Given the description of an element on the screen output the (x, y) to click on. 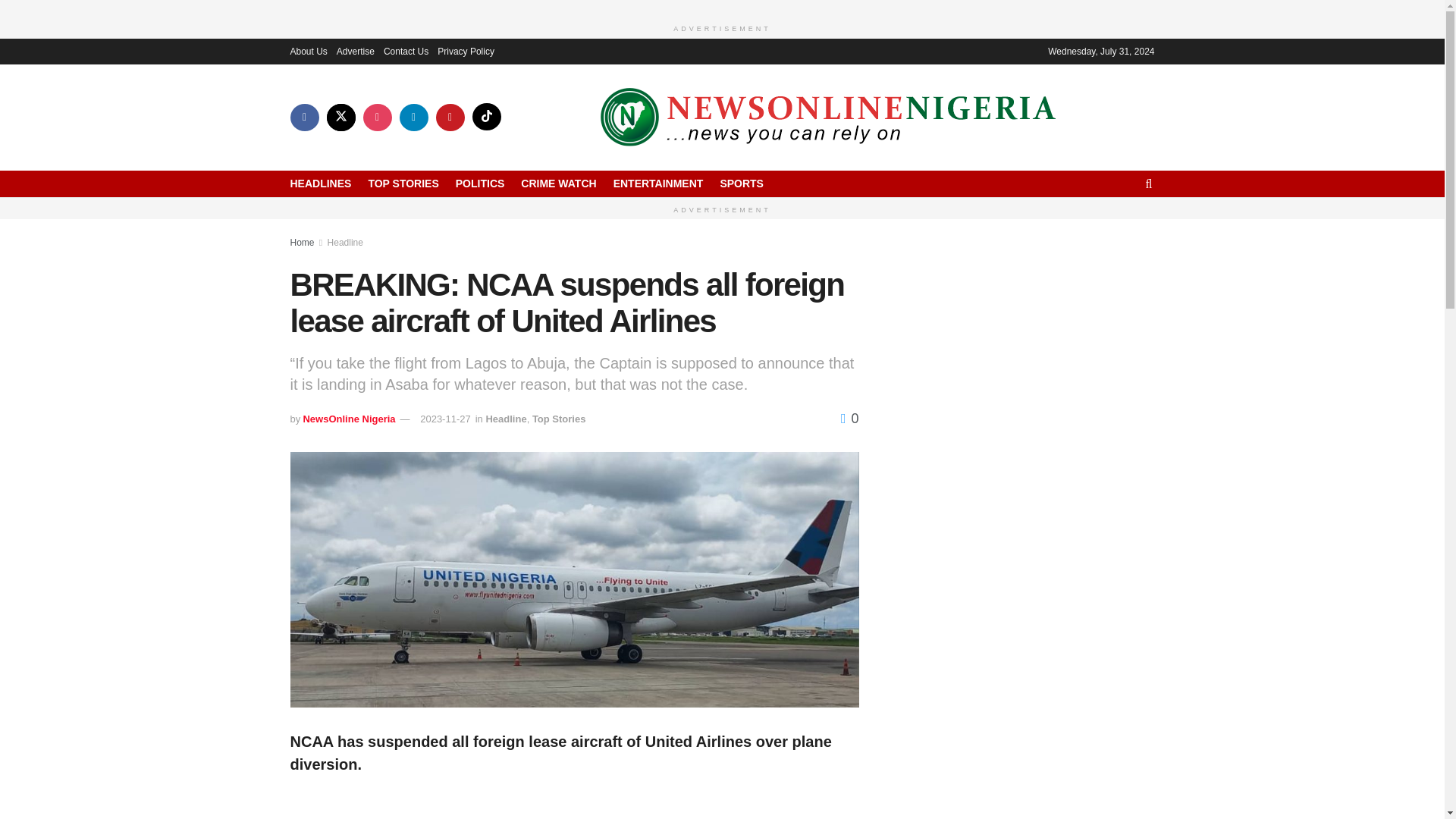
TOP STORIES (403, 183)
HEADLINES (319, 183)
Advertise (355, 51)
ENTERTAINMENT (657, 183)
CRIME WATCH (558, 183)
POLITICS (480, 183)
About Us (307, 51)
SPORTS (740, 183)
Privacy Policy (466, 51)
Contact Us (406, 51)
